Given the description of an element on the screen output the (x, y) to click on. 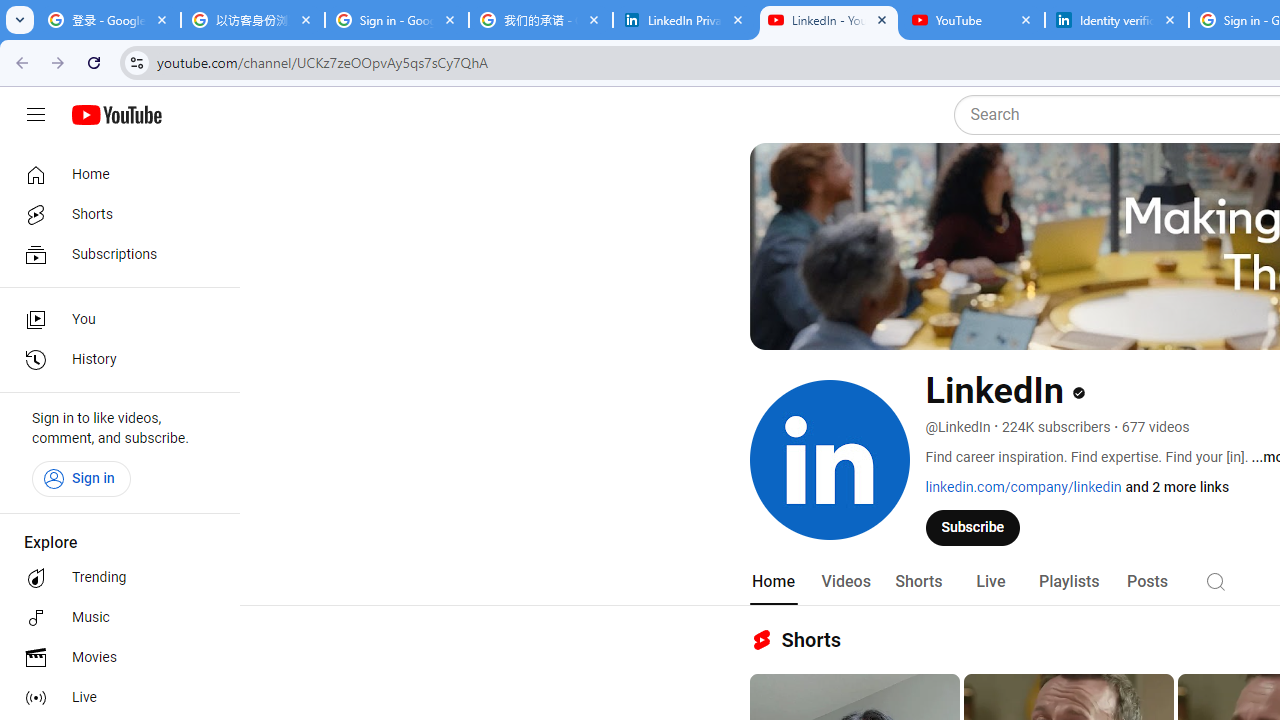
LinkedIn Privacy Policy (684, 20)
linkedin.com/company/linkedin (1023, 487)
Home (772, 581)
You (113, 319)
Trending (113, 578)
YouTube (972, 20)
Search (1215, 580)
Subscribe (973, 527)
Movies (113, 657)
Live (113, 697)
Videos (845, 581)
Identity verification via Persona | LinkedIn Help (1116, 20)
View site information (136, 62)
YouTube Home (116, 115)
